Given the description of an element on the screen output the (x, y) to click on. 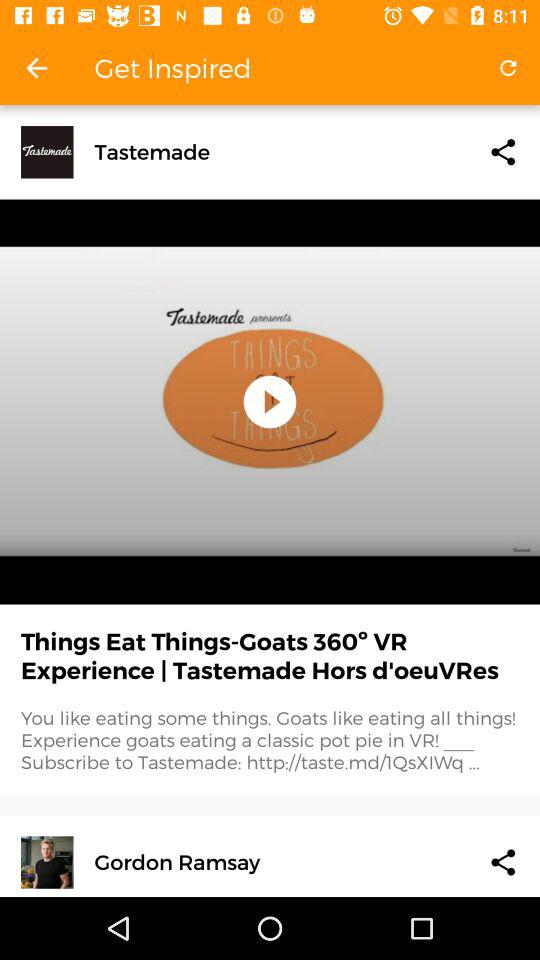
choose the item next to get inspired app (36, 68)
